Given the description of an element on the screen output the (x, y) to click on. 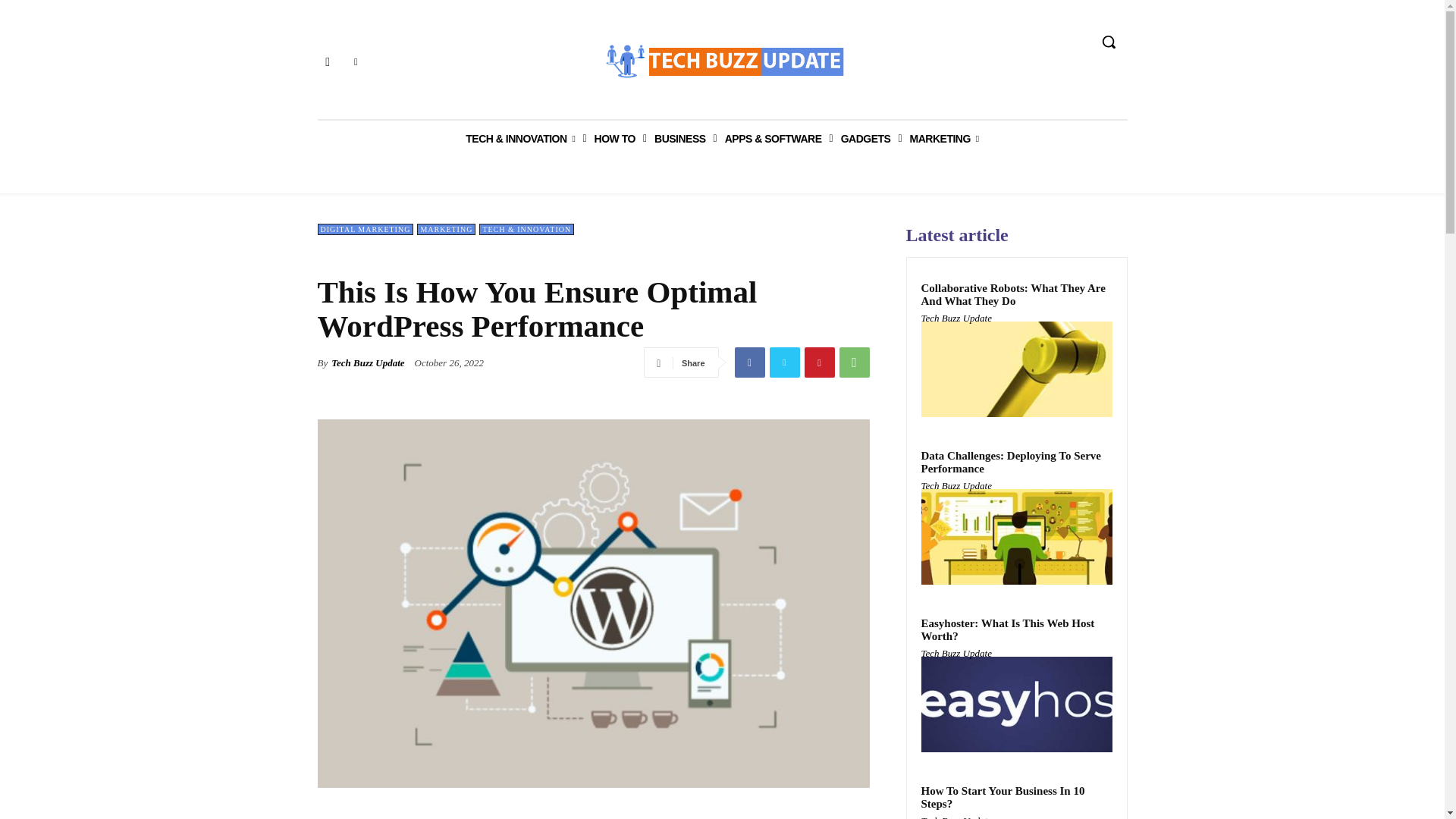
Twitter (356, 61)
Facebook (327, 61)
Facebook (748, 362)
